Given the description of an element on the screen output the (x, y) to click on. 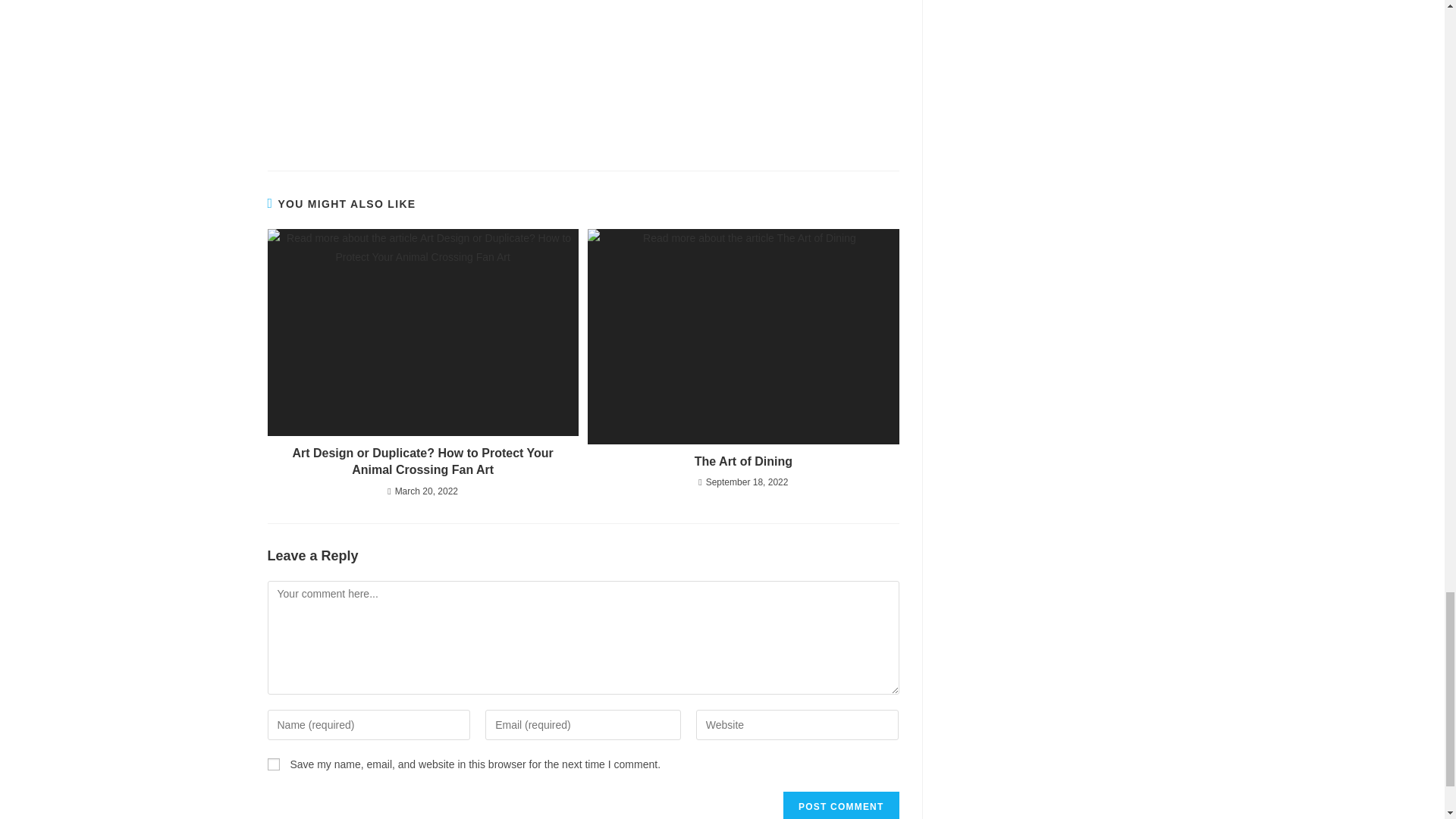
Post Comment (840, 805)
The Art of Dining (742, 461)
The Art of Dining 2 (743, 336)
yes (272, 764)
Post Comment (840, 805)
